Given the description of an element on the screen output the (x, y) to click on. 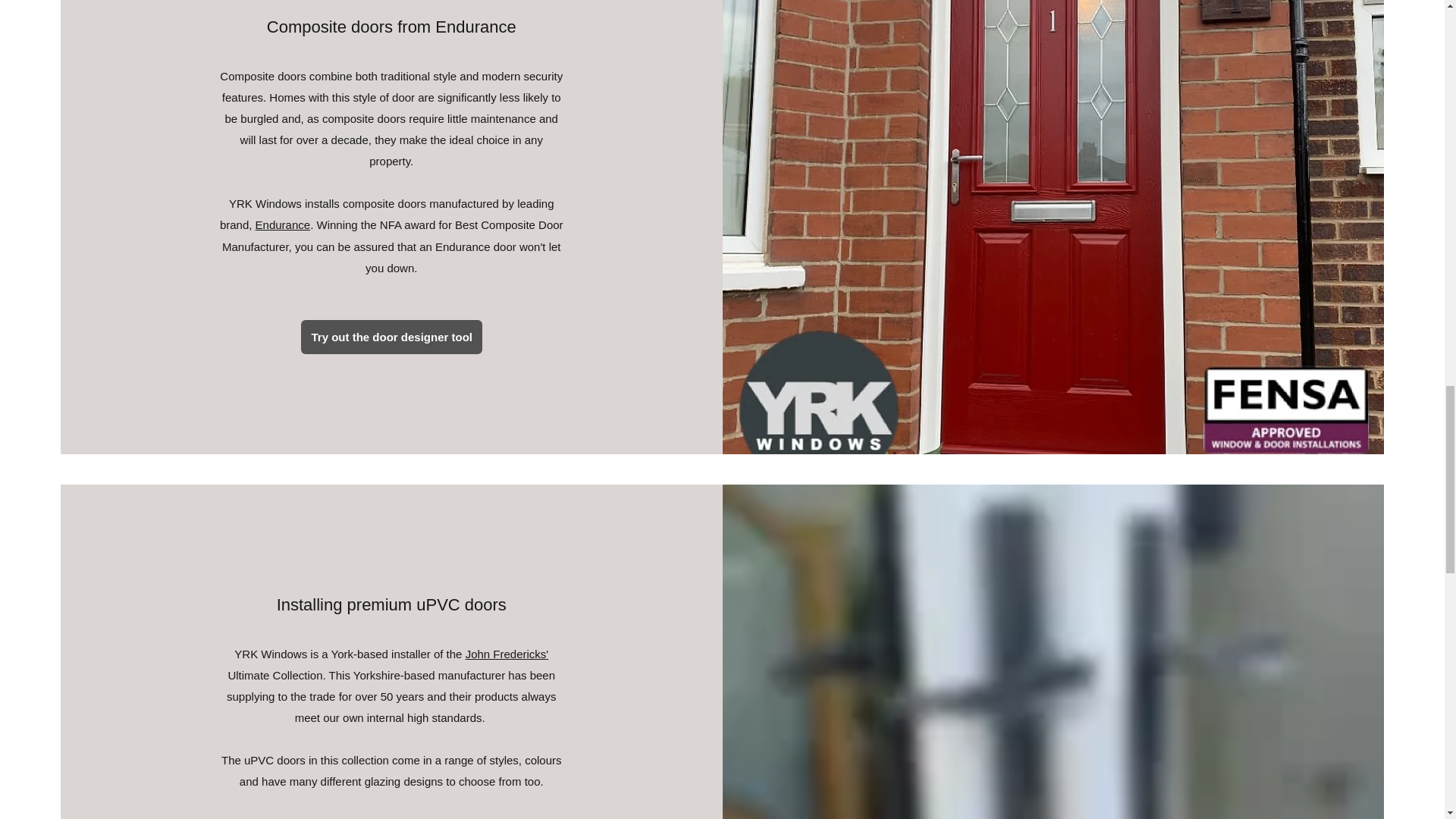
Endurance (283, 224)
Try out the door designer tool (391, 336)
John Fredericks' (506, 653)
